Given the description of an element on the screen output the (x, y) to click on. 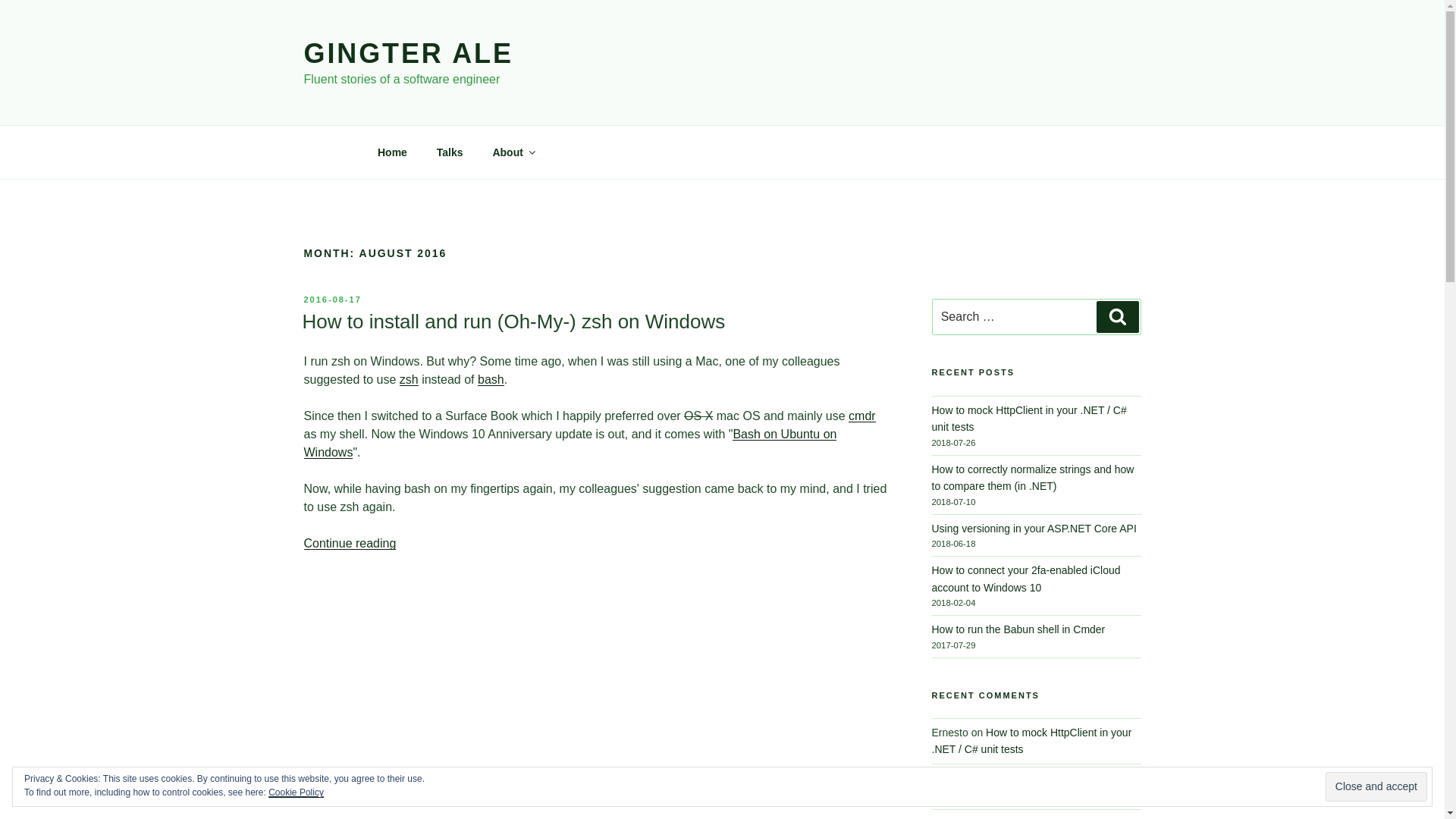
About (513, 151)
bash (490, 379)
Bash on Ubuntu on Windows (568, 442)
Talks (449, 151)
Close and accept (1375, 786)
Using versioning in your ASP.NET Core API (1033, 528)
2016-08-17 (331, 298)
How to run the Babun shell in Cmder (1018, 629)
How to connect your 2fa-enabled iCloud account to Windows 10 (1025, 578)
GINGTER ALE (407, 52)
